Given the description of an element on the screen output the (x, y) to click on. 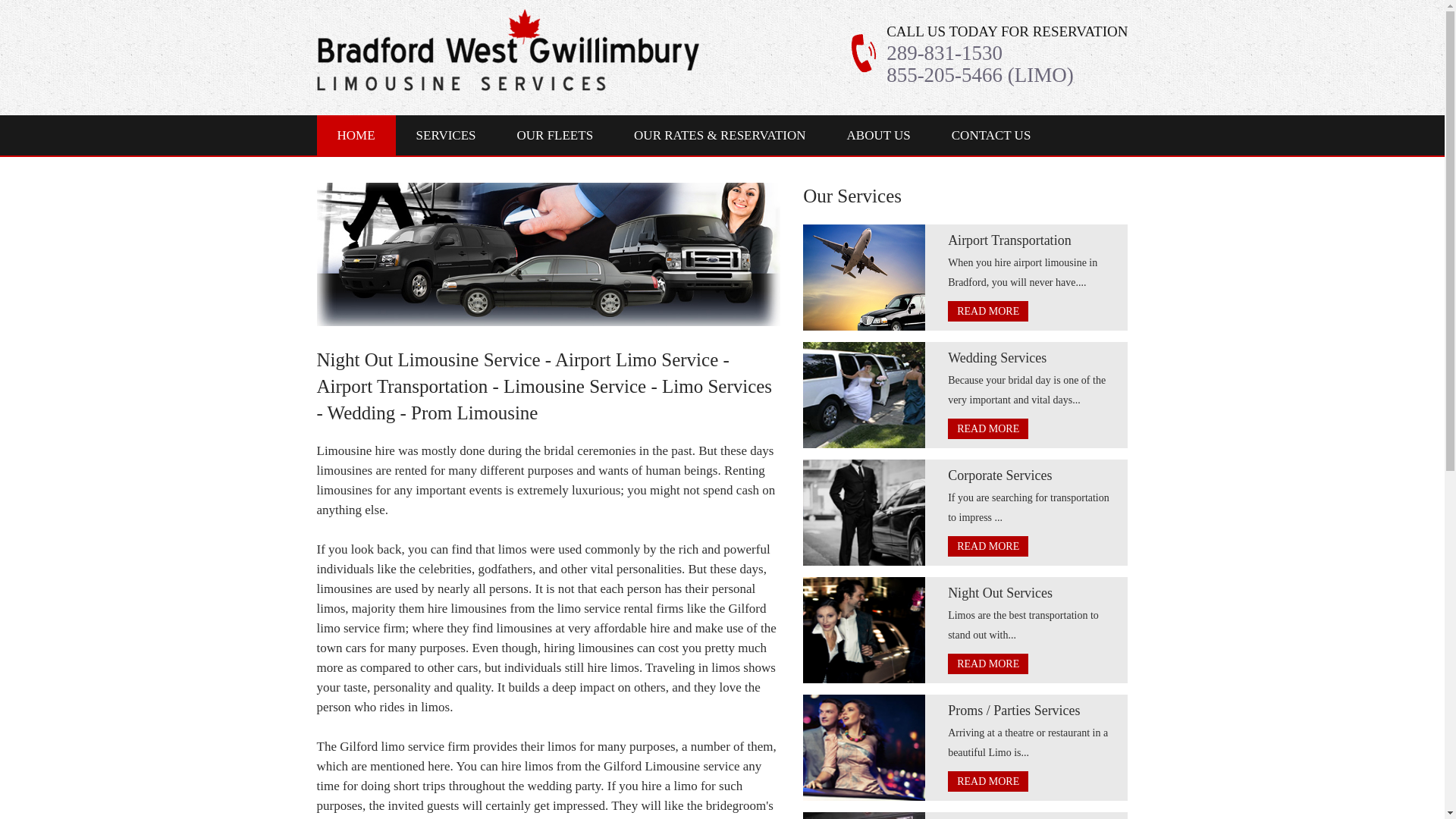
ABOUT US (879, 135)
Bradford West Gwillimbury Limousine (507, 48)
SERVICES (446, 135)
READ MORE (987, 311)
OUR FLEETS (554, 135)
CONTACT US (991, 135)
READ MORE (987, 546)
READ MORE (987, 663)
HOME (356, 135)
READ MORE (987, 428)
READ MORE (987, 781)
